Given the description of an element on the screen output the (x, y) to click on. 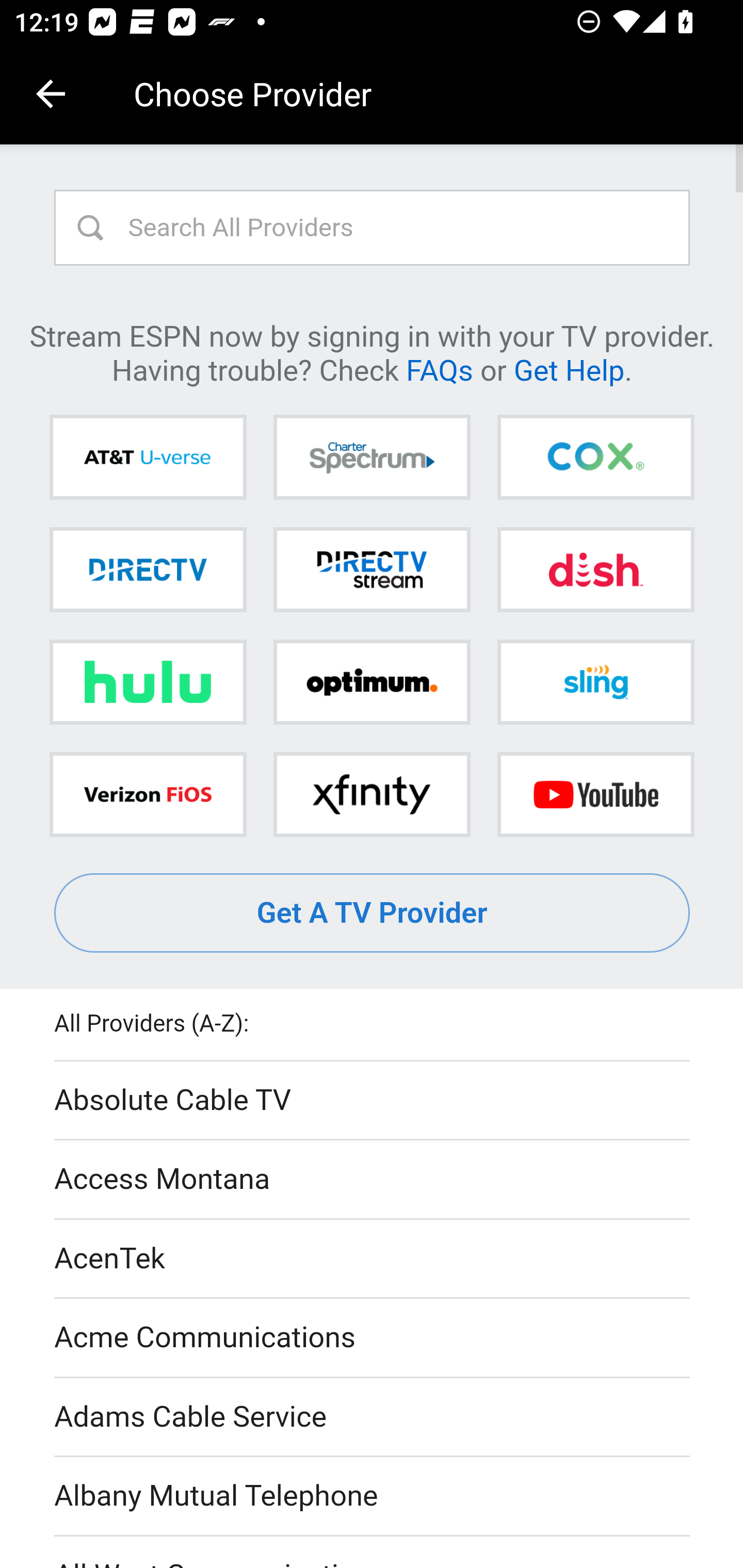
Navigate up (50, 93)
